Given the description of an element on the screen output the (x, y) to click on. 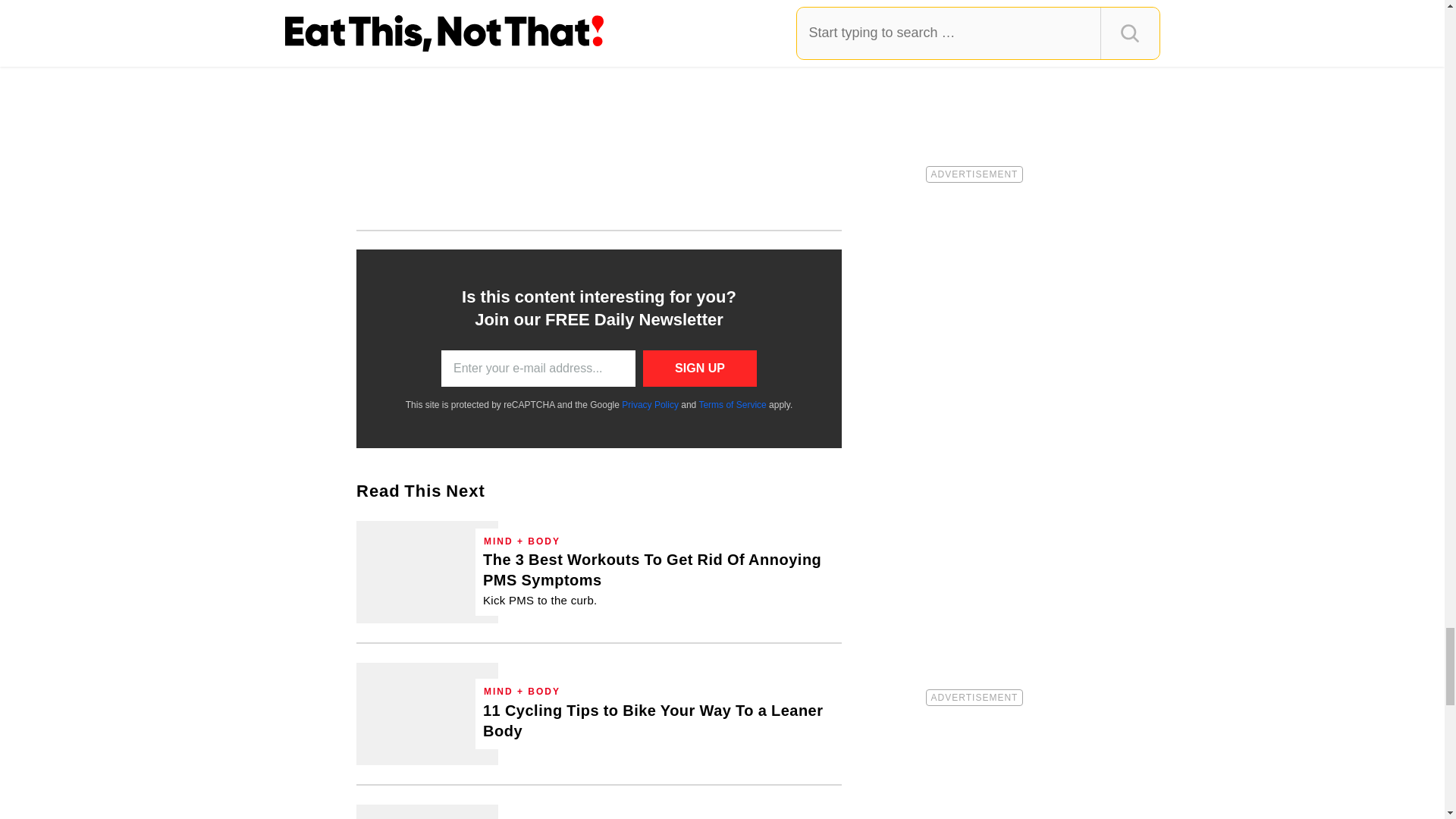
The 3 Best Workouts To Get Rid Of PMS Symptoms, Trainer Says (426, 571)
11 Best Cycling Tips to Bike Your Way To a Leaner Body (426, 713)
11 Best Cycling Tips to Bike Your Way To a Leaner Body (658, 721)
The 3 Best Workouts To Get Rid Of PMS Symptoms, Trainer Says (658, 578)
What Happens to Your Body When You Walk Every Day (426, 811)
